Given the description of an element on the screen output the (x, y) to click on. 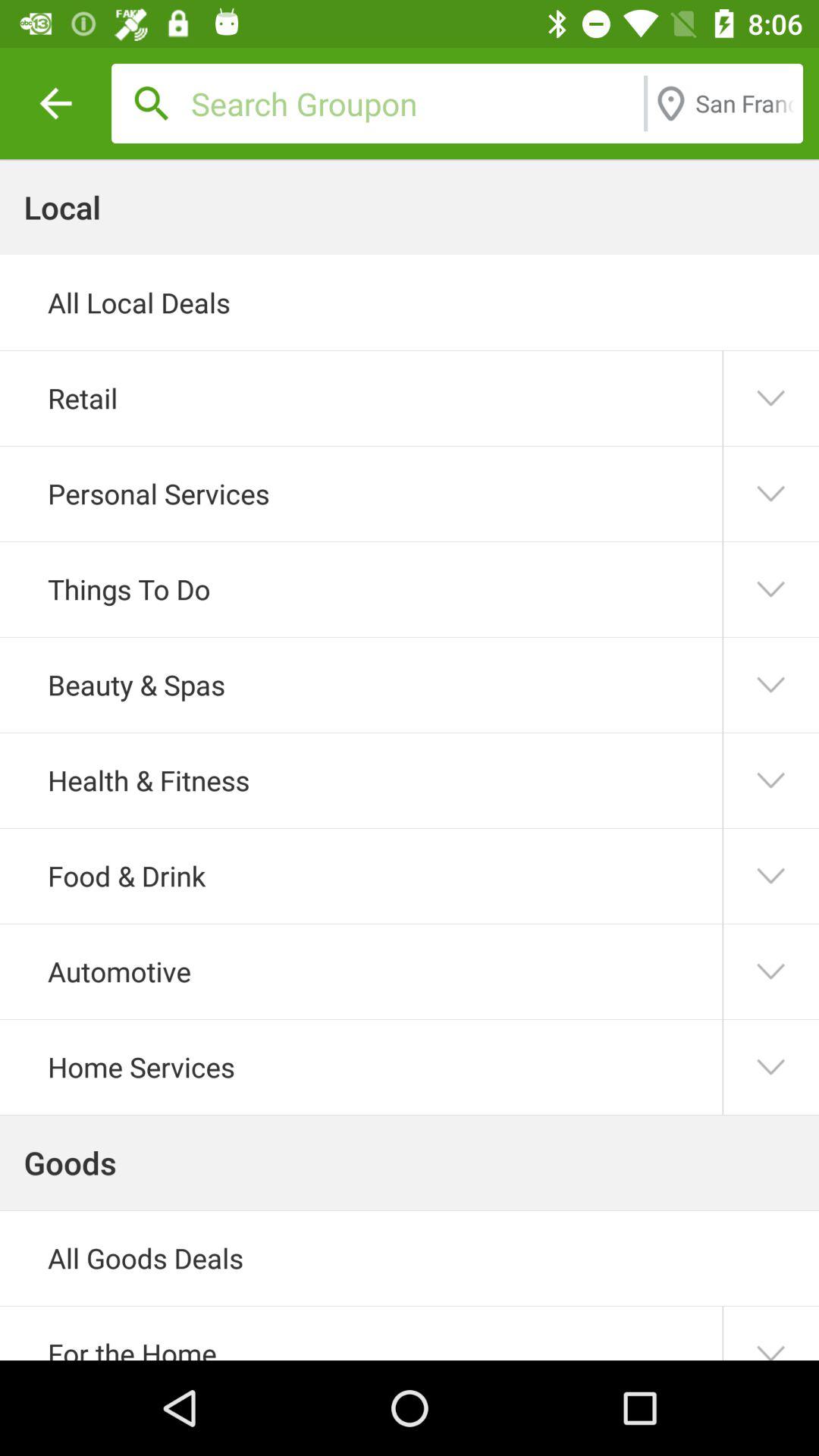
swipe until the san francisco, ca (745, 103)
